Given the description of an element on the screen output the (x, y) to click on. 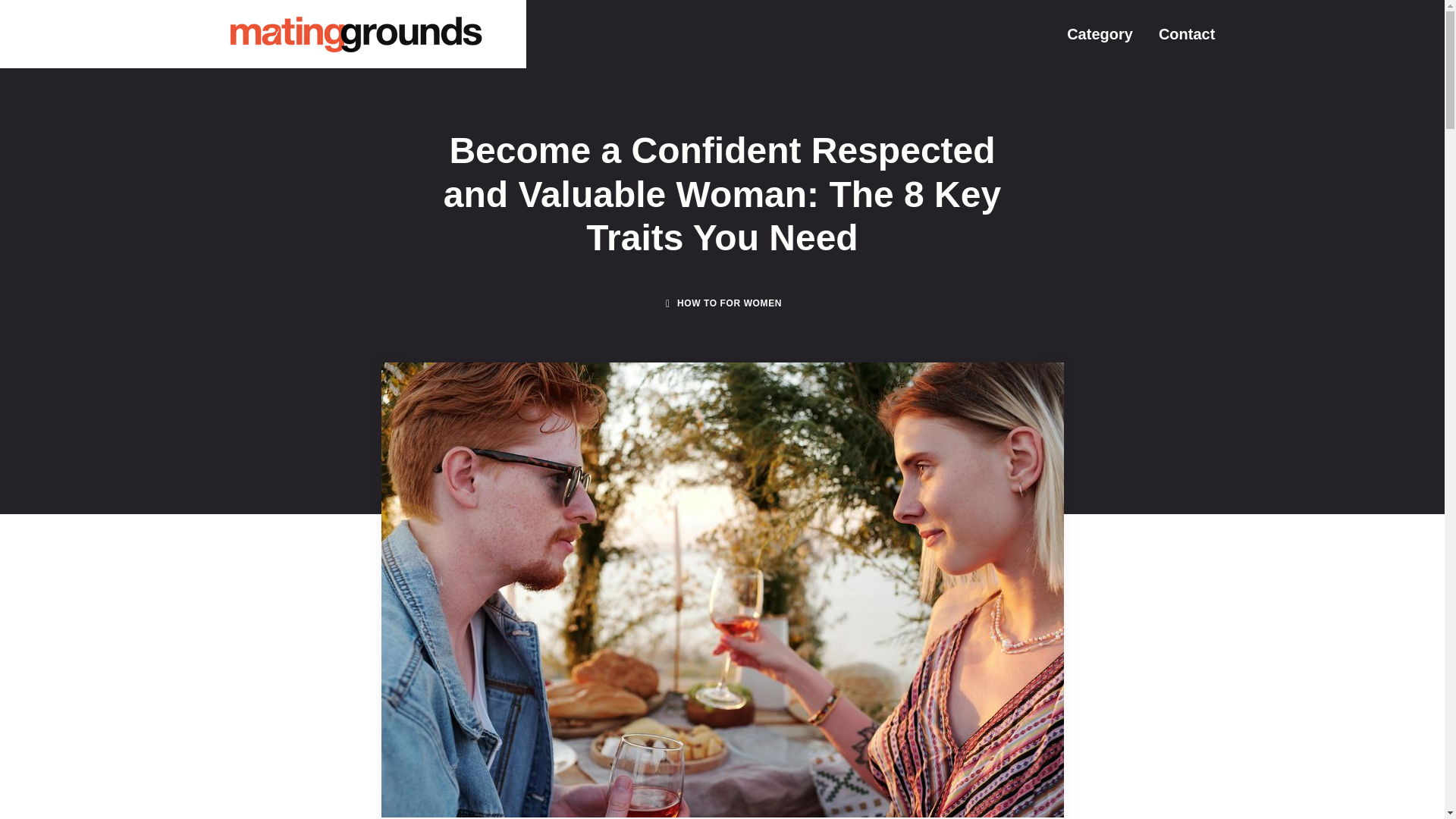
Contact (1186, 33)
Category (1099, 33)
HOW TO FOR WOMEN (729, 303)
